Given the description of an element on the screen output the (x, y) to click on. 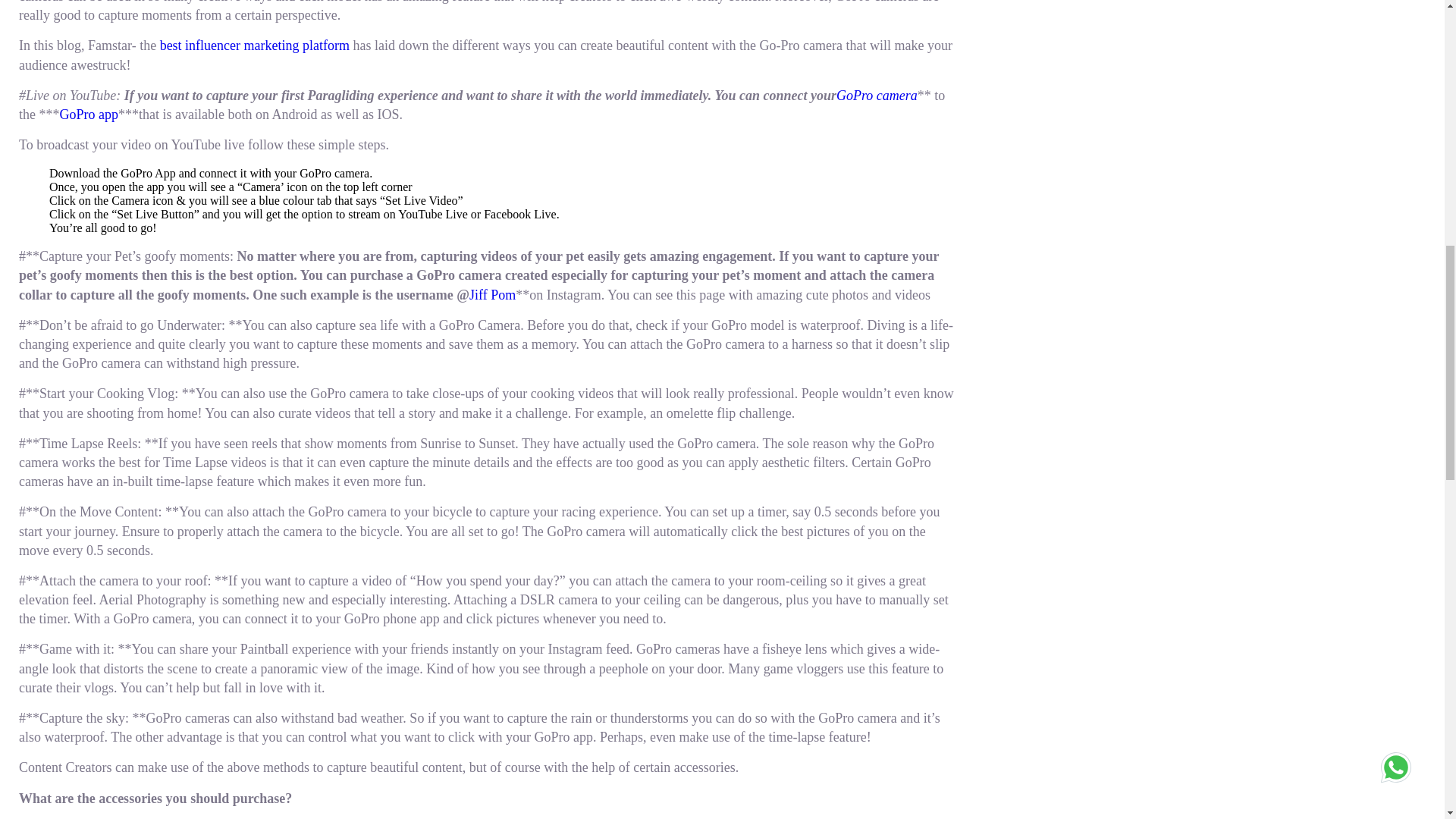
best influencer marketing platform (254, 45)
Jiff Pom (491, 294)
GoPro app (88, 114)
GoPro camera (876, 95)
